Given the description of an element on the screen output the (x, y) to click on. 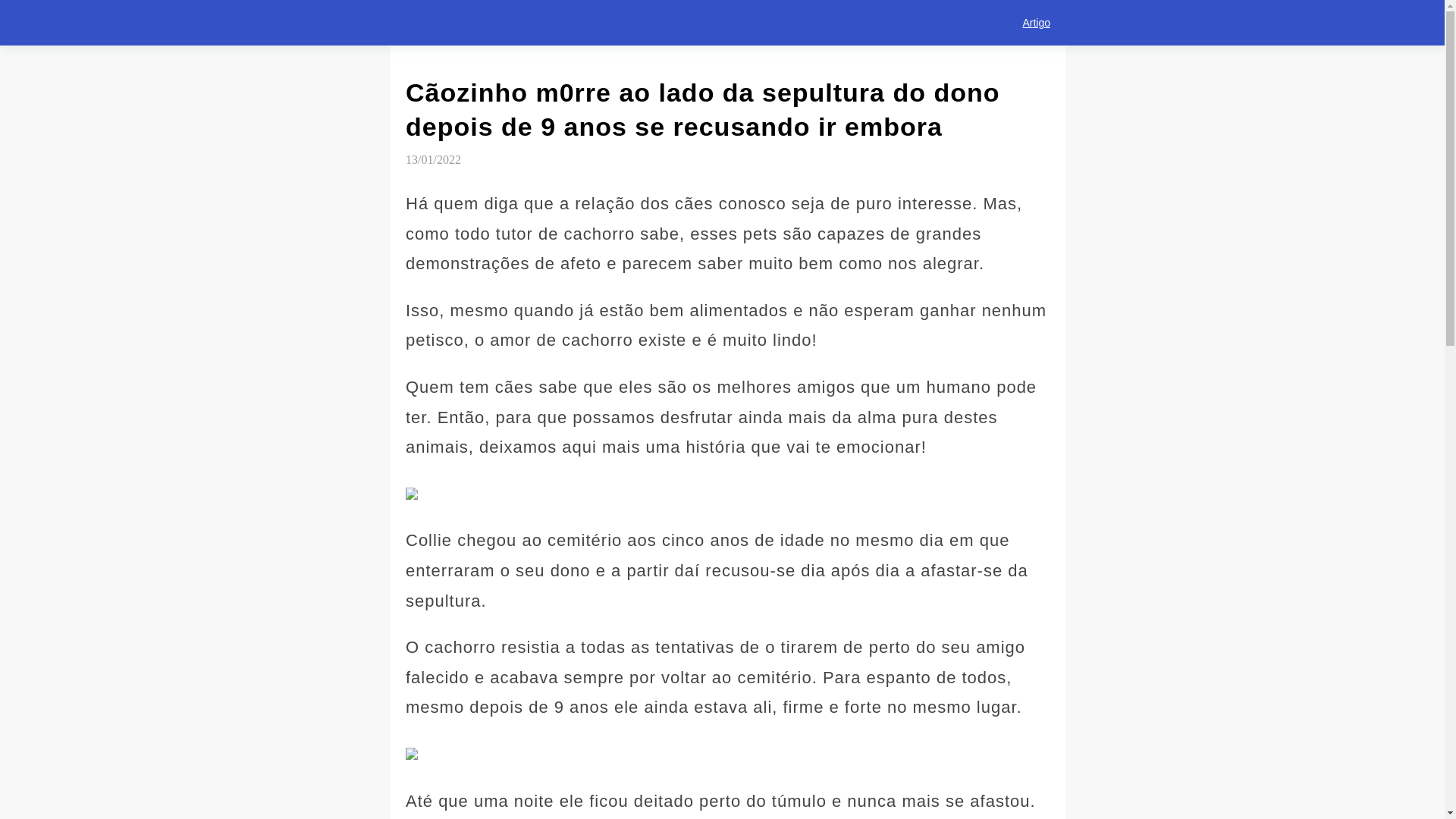
Artigo Element type: text (1036, 22)
